Given the description of an element on the screen output the (x, y) to click on. 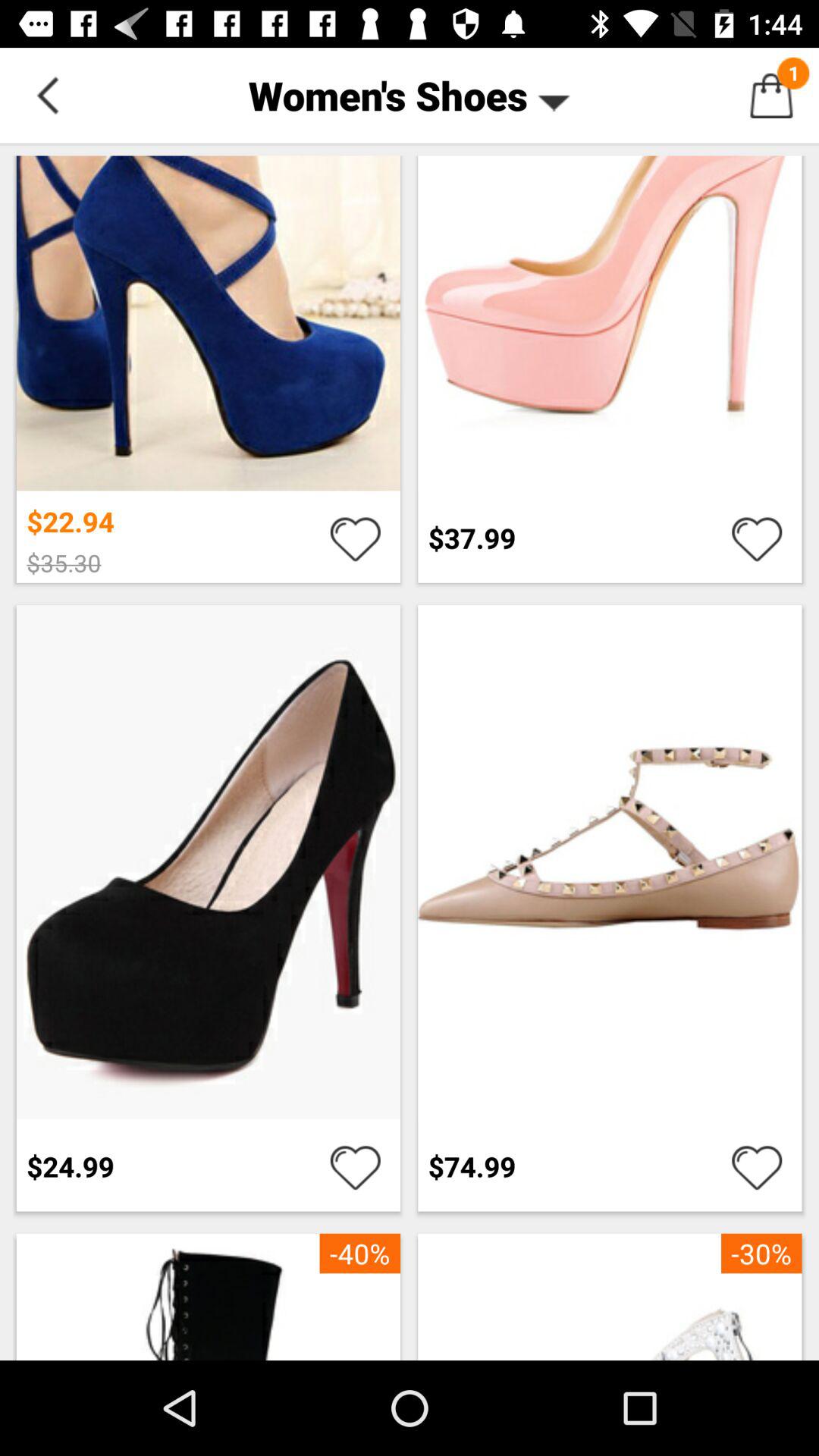
add item to favorites (756, 1166)
